Given the description of an element on the screen output the (x, y) to click on. 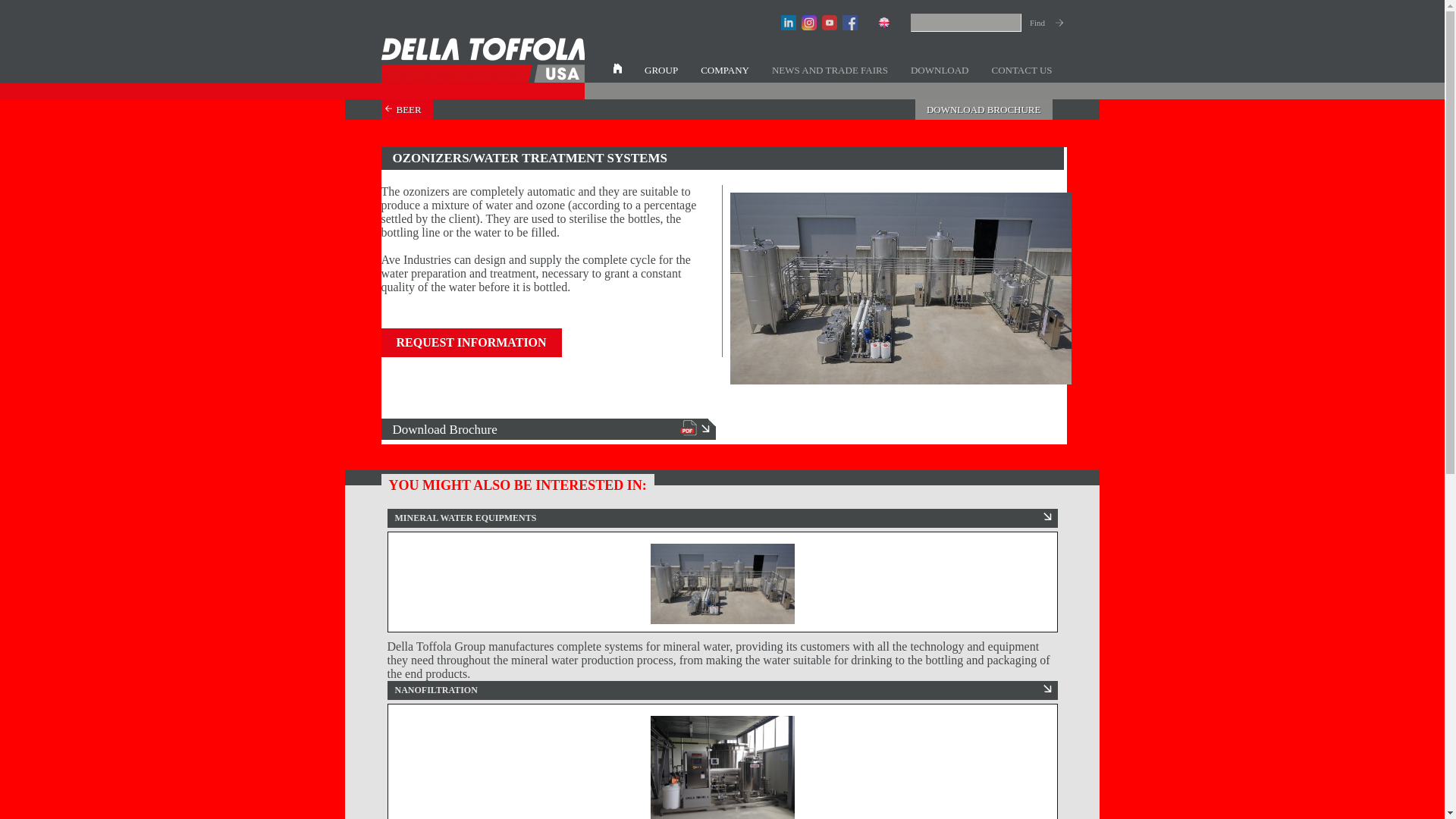
Find (1042, 22)
LinkedIn (788, 22)
Nanofiltration (722, 767)
Instagram (807, 22)
COMPANY (724, 70)
You Tube (829, 22)
CONTACT US (1021, 70)
Download Brochure (547, 428)
BEER (406, 109)
Facebook (849, 22)
NEWS AND TRADE FAIRS (829, 70)
Instagram (807, 22)
mineral water equipments (722, 583)
HOME (617, 69)
MINERAL WATER EQUIPMENTS (722, 570)
